Given the description of an element on the screen output the (x, y) to click on. 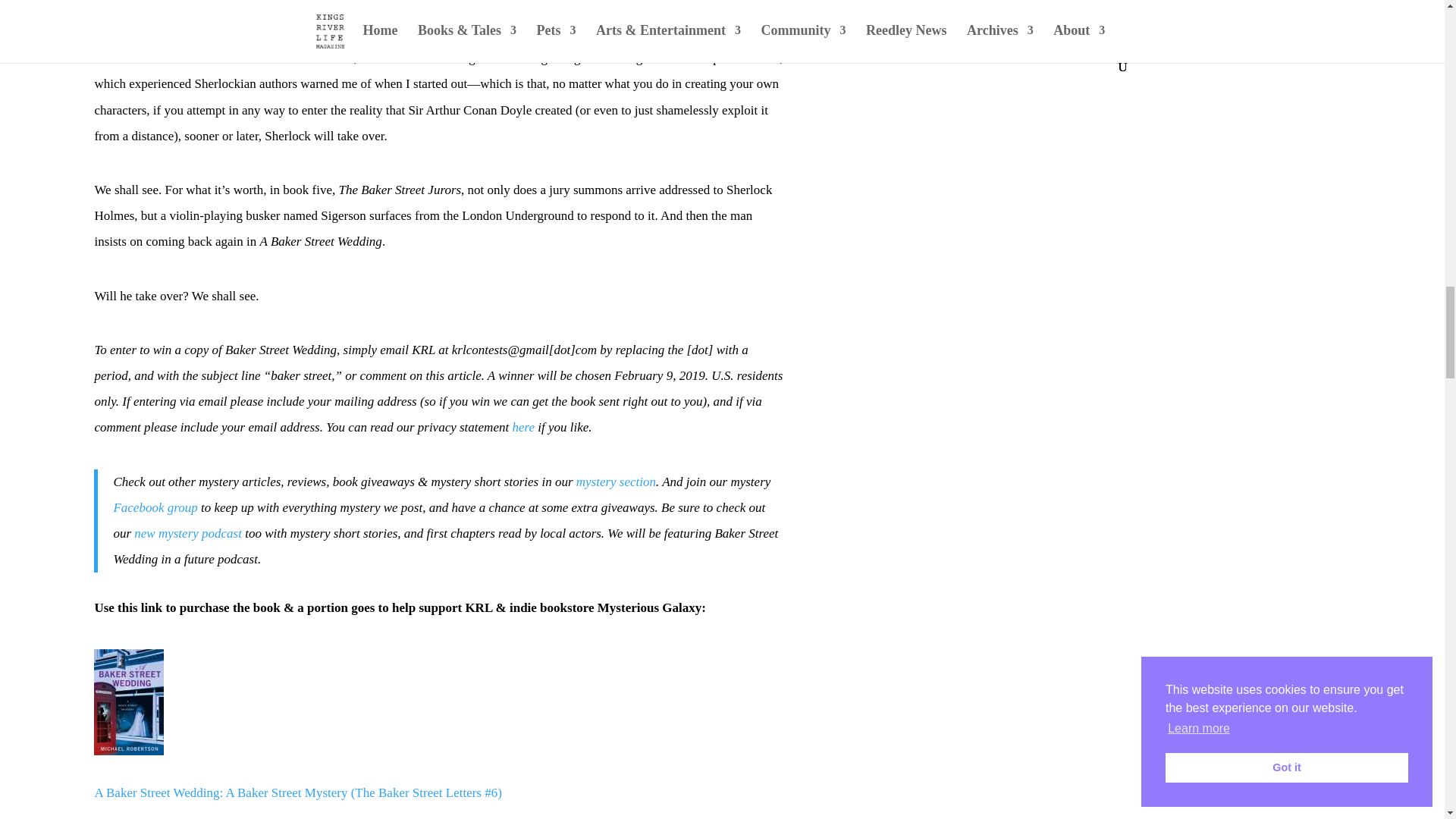
Opens to mystery section (616, 481)
